Given the description of an element on the screen output the (x, y) to click on. 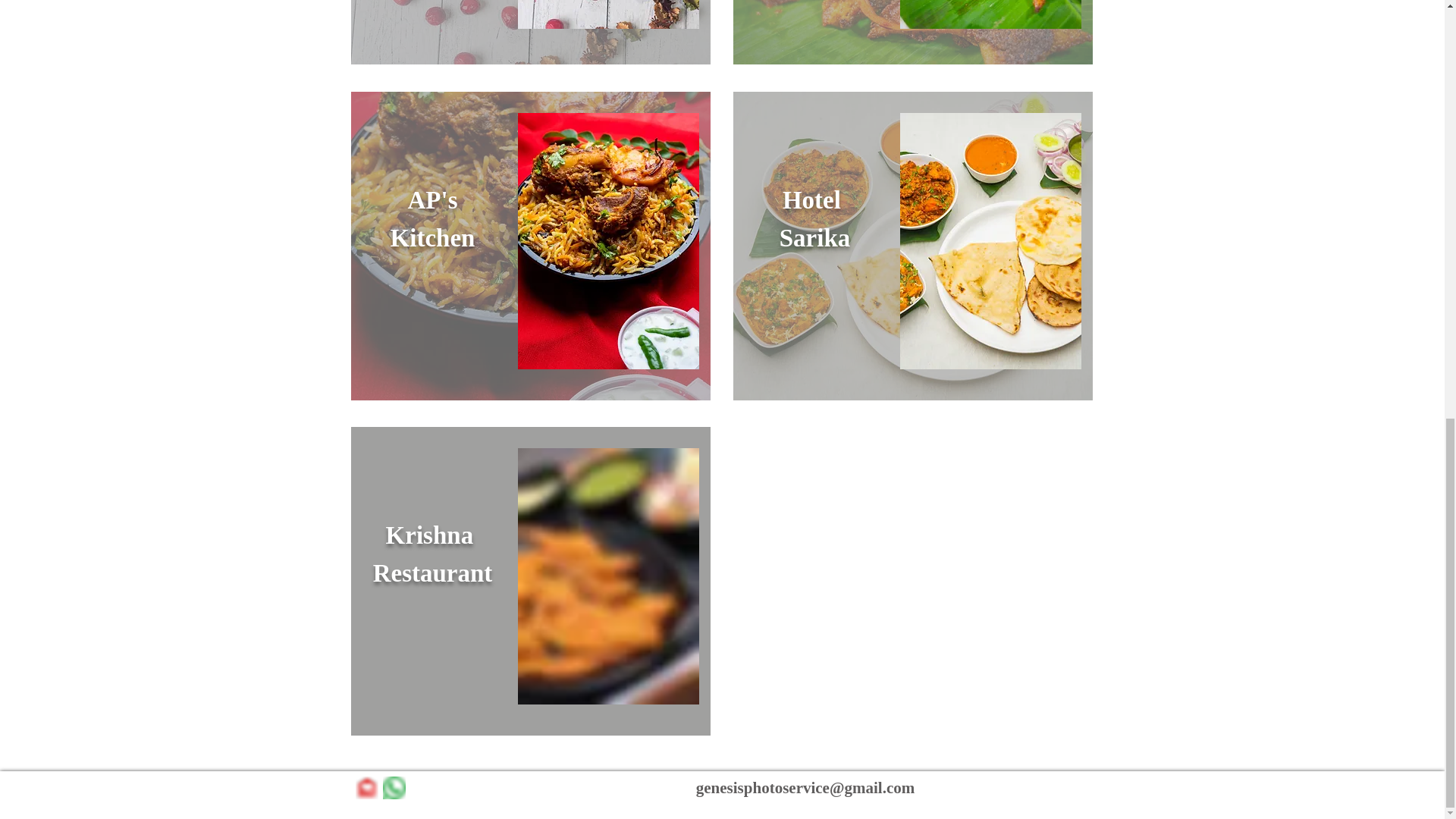
Whats app, Contact, photography, shutterbug (392, 787)
